Given the description of an element on the screen output the (x, y) to click on. 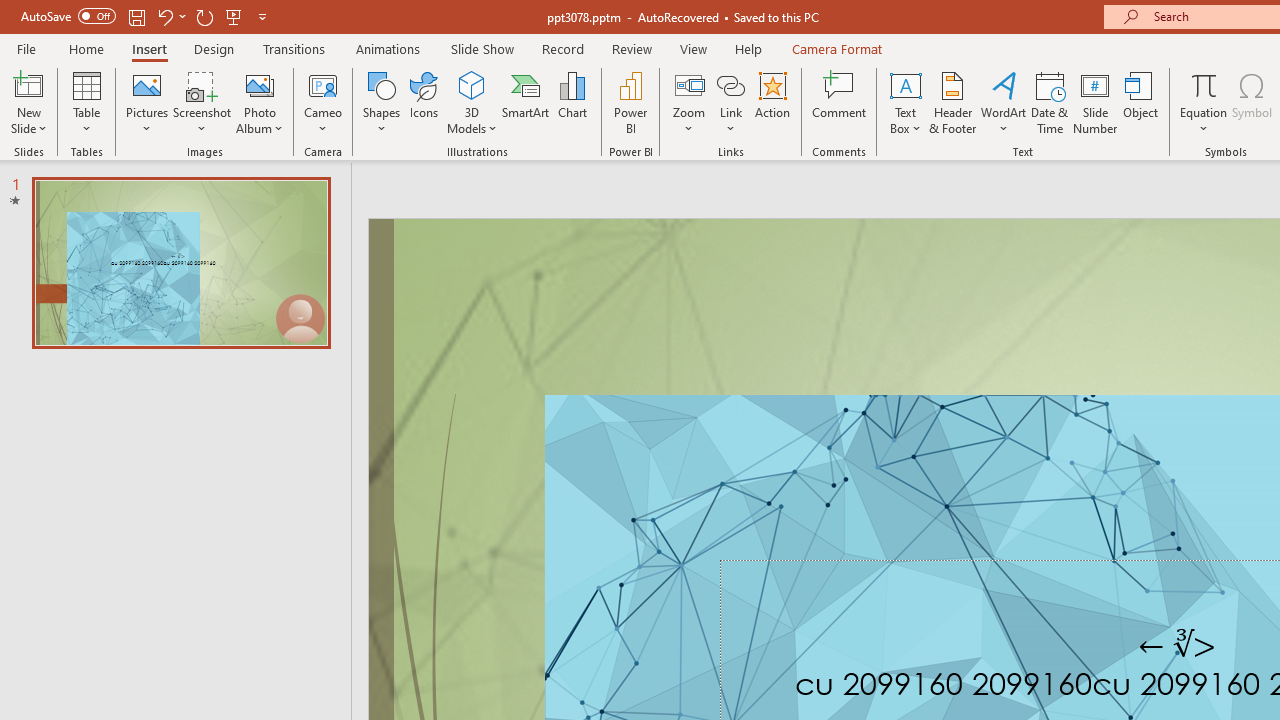
Shapes (381, 102)
Equation (1203, 102)
Comment (839, 102)
3D Models (472, 102)
Icons (424, 102)
TextBox 7 (1178, 645)
Photo Album... (259, 102)
Text Box (905, 102)
Equation (1203, 84)
Draw Horizontal Text Box (905, 84)
